Given the description of an element on the screen output the (x, y) to click on. 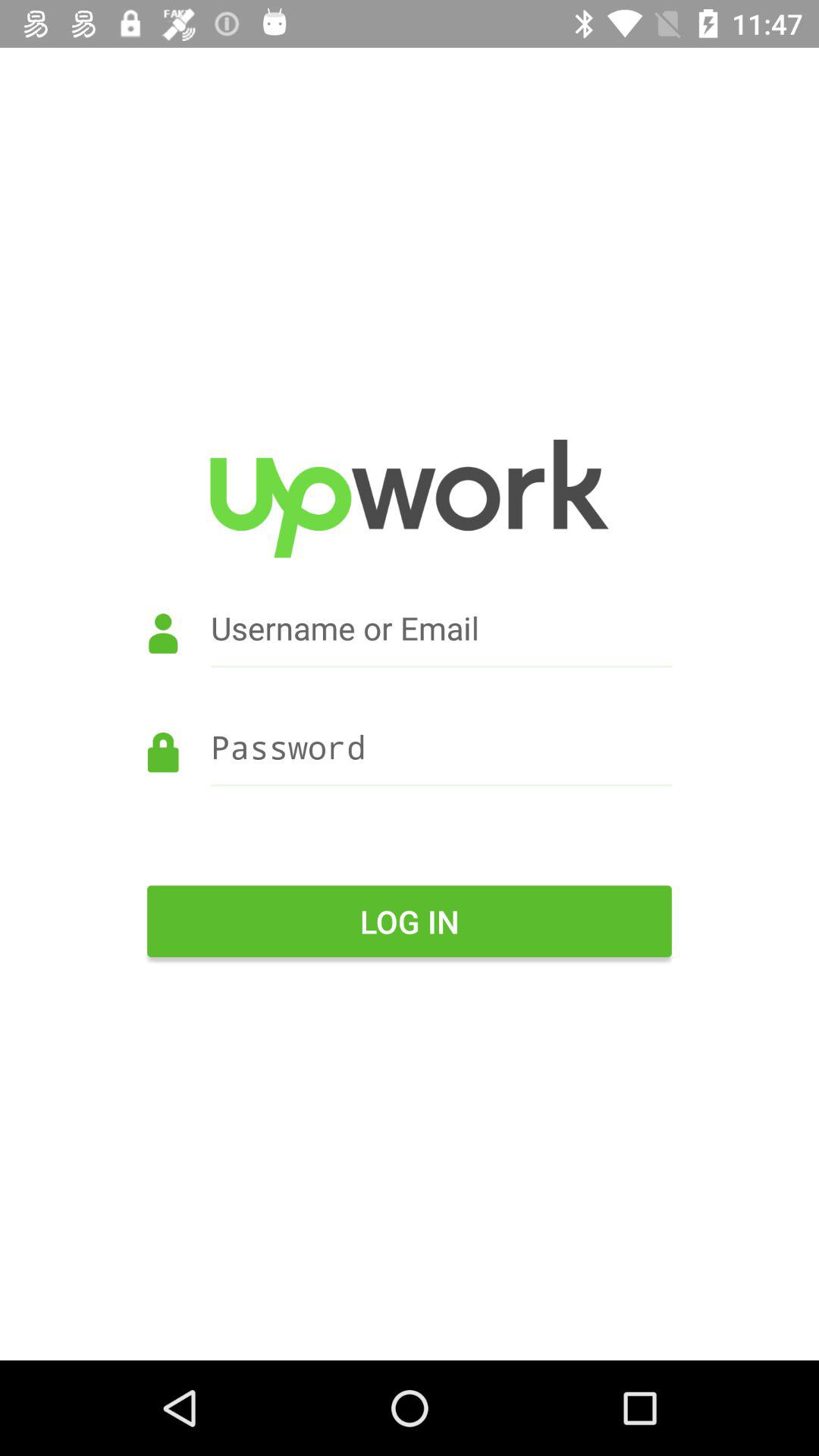
jump until the log in (409, 921)
